Given the description of an element on the screen output the (x, y) to click on. 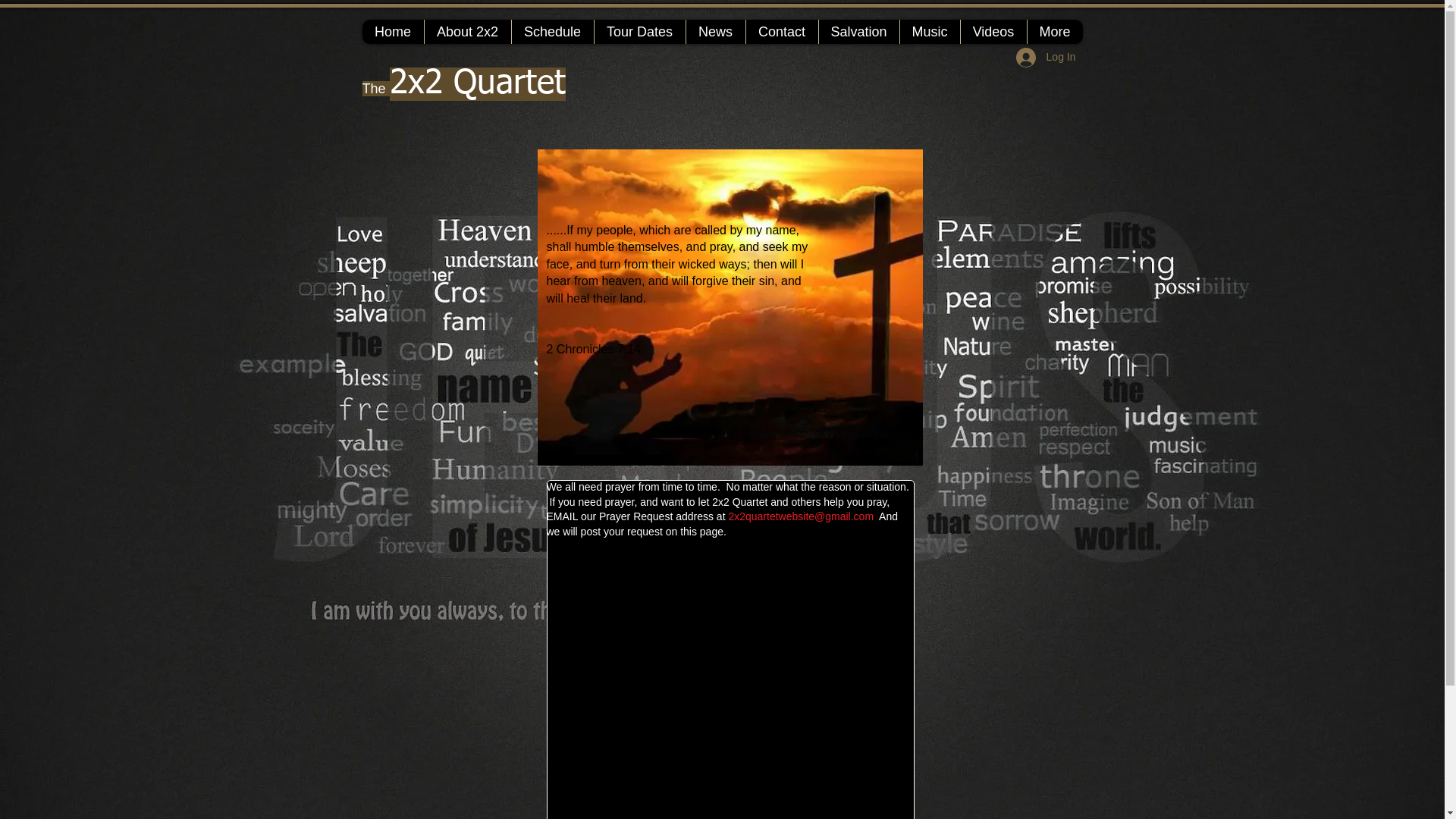
Home Element type: text (392, 31)
Schedule Element type: text (552, 31)
Videos Element type: text (993, 31)
Tour Dates Element type: text (638, 31)
News Element type: text (715, 31)
Contact Element type: text (780, 31)
Music Element type: text (929, 31)
2x2quartetwebsite@gmail.com Element type: text (800, 516)
Log In Element type: text (1045, 57)
About 2x2 Element type: text (466, 31)
Salvation Element type: text (857, 31)
